Given the description of an element on the screen output the (x, y) to click on. 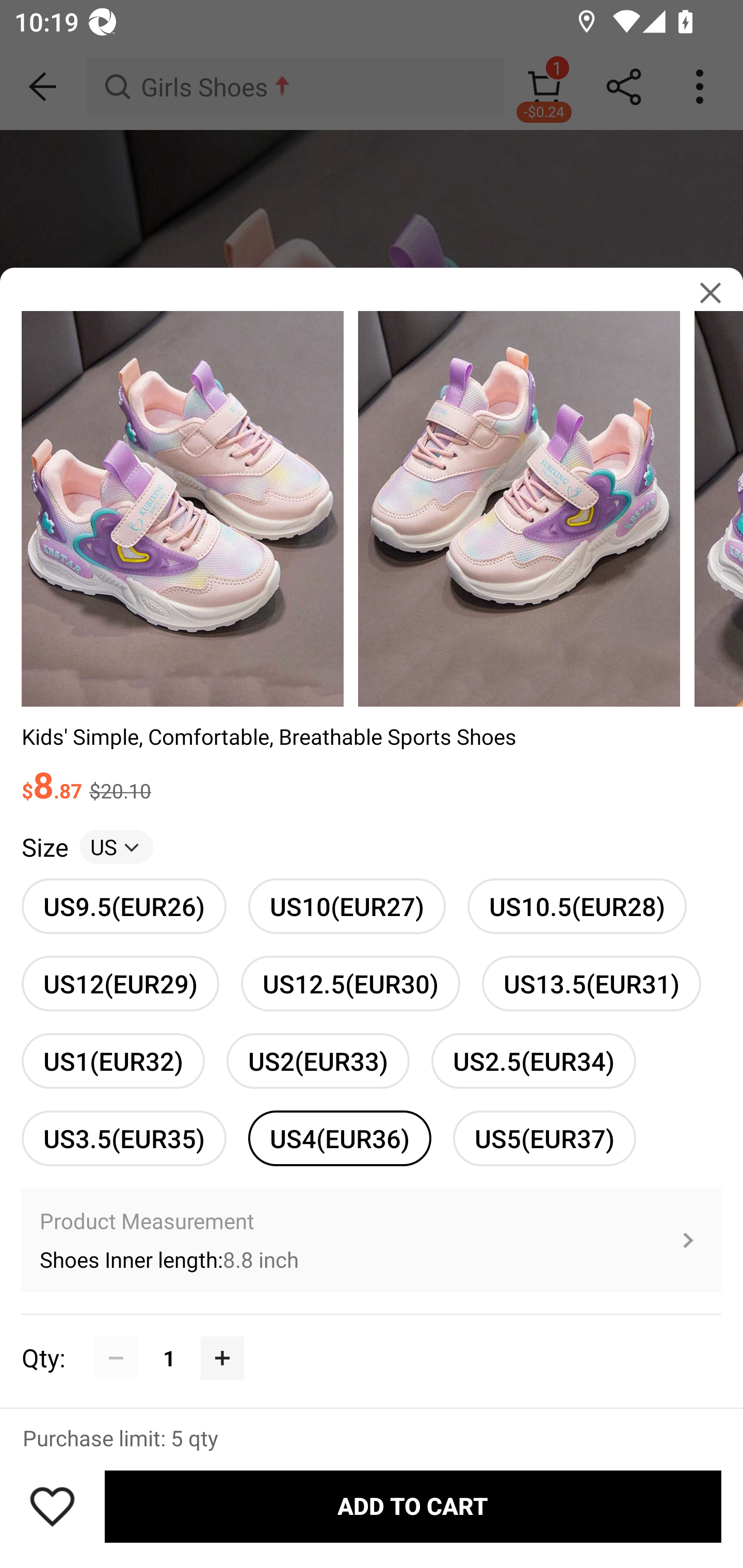
Size (44, 846)
US (116, 846)
US9.5(EUR26) US9.5(EUR26)unselected option (123, 906)
US10(EUR27) US10(EUR27)unselected option (346, 906)
US10.5(EUR28) US10.5(EUR28)unselected option (576, 906)
US12(EUR29) US12(EUR29)unselected option (120, 983)
US12.5(EUR30) US12.5(EUR30)unselected option (349, 983)
US13.5(EUR31) US13.5(EUR31)unselected option (591, 983)
US1(EUR32) US1(EUR32)unselected option (113, 1060)
US2(EUR33) US2(EUR33)unselected option (317, 1060)
US2.5(EUR34) US2.5(EUR34)unselected option (533, 1060)
US3.5(EUR35) US3.5(EUR35)unselected option (123, 1138)
US4(EUR36) US4(EUR36)selected option (339, 1138)
US5(EUR37) US5(EUR37)unselected option (544, 1138)
Product Measurement Shoes Inner length:8.8 inch (371, 1240)
ADD TO CART (412, 1506)
Save (52, 1505)
